Given the description of an element on the screen output the (x, y) to click on. 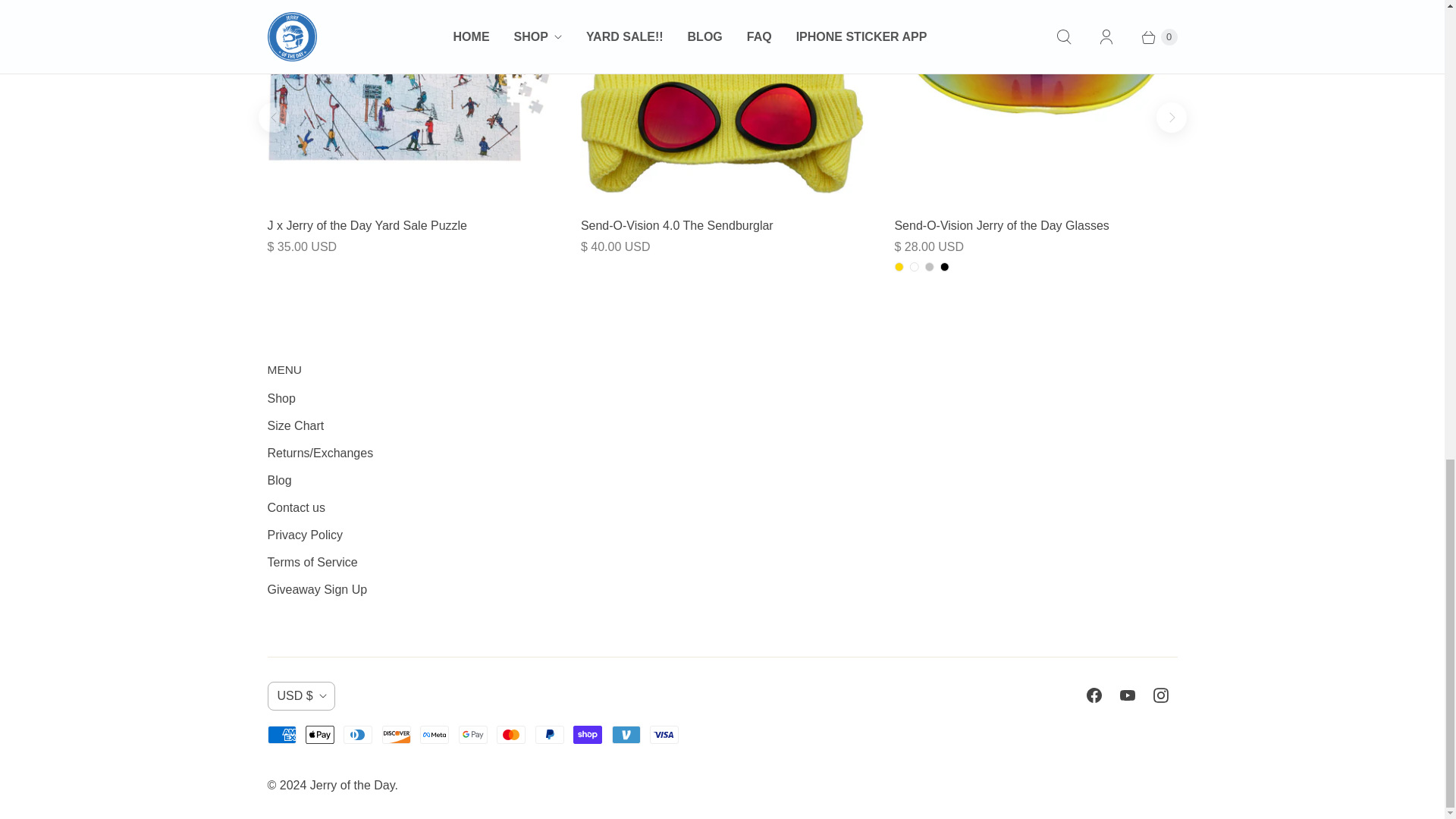
Shop Pay (587, 734)
Diners Club (357, 734)
Meta Pay (434, 734)
Venmo (625, 734)
American Express (280, 734)
Discover (395, 734)
PayPal (549, 734)
Visa (663, 734)
Google Pay (472, 734)
Apple Pay (319, 734)
